Given the description of an element on the screen output the (x, y) to click on. 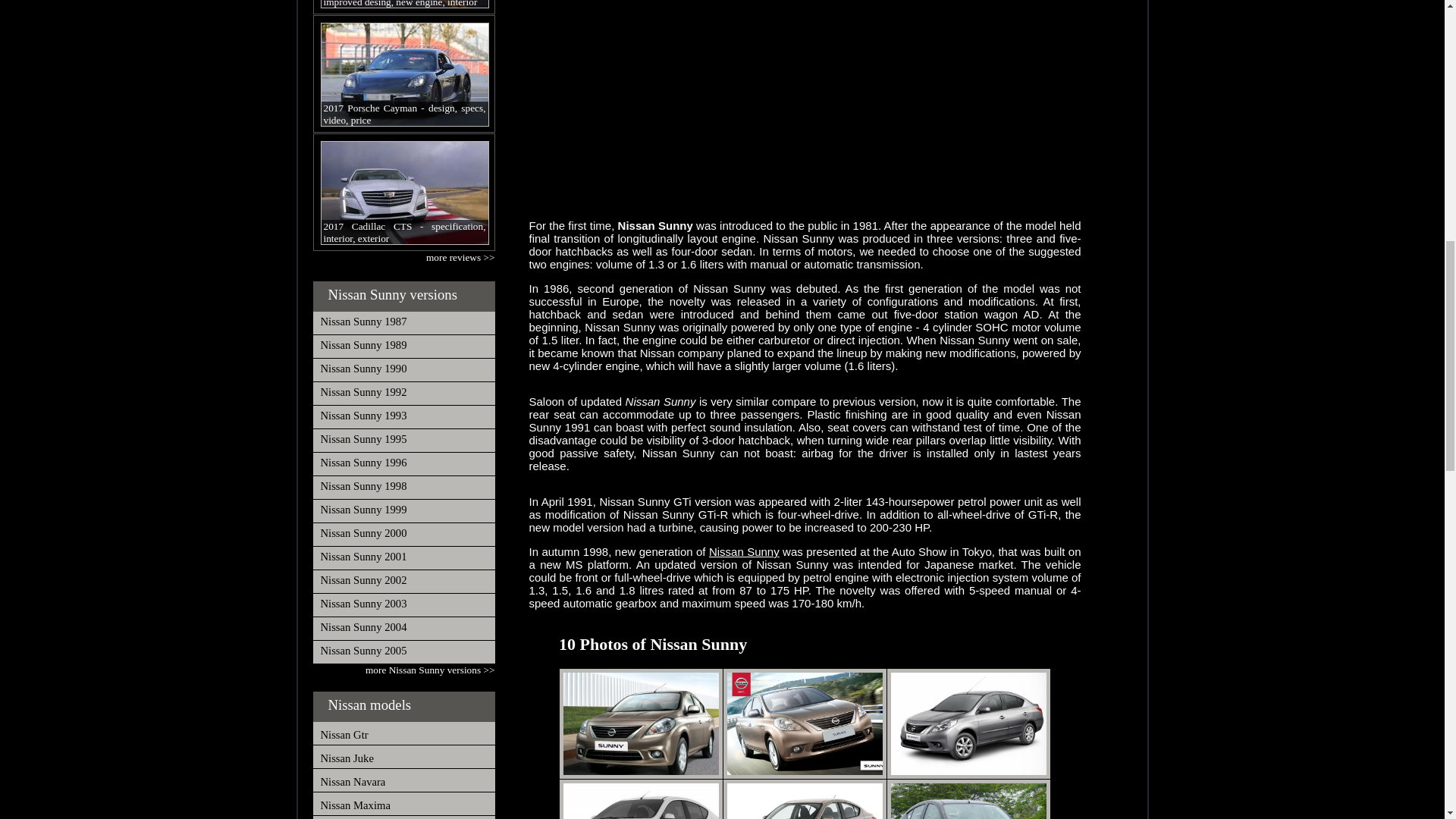
Nissan Sunny 1990 (363, 368)
2017 Porsche Cayman - design, specs, video, price (403, 74)
Nissan Sunny 1989 (363, 345)
Nissan Sunny 1993 (363, 415)
Nissan Sunny 2000 (363, 532)
Nissan Sunny 1987 (363, 321)
Nissan Sunny 2002 (363, 580)
Nissan Sunny 1998 (363, 485)
Nissan Sunny 2001 (363, 556)
Nissan Sunny 1995 (363, 439)
Nissan Sunny 1996 (363, 462)
2017 Porsche Cayman - design, specs, video, price (403, 74)
2017 Cadillac CTS - specification, interior, exterior (403, 192)
Nissan Sunny 1987 (363, 321)
